Given the description of an element on the screen output the (x, y) to click on. 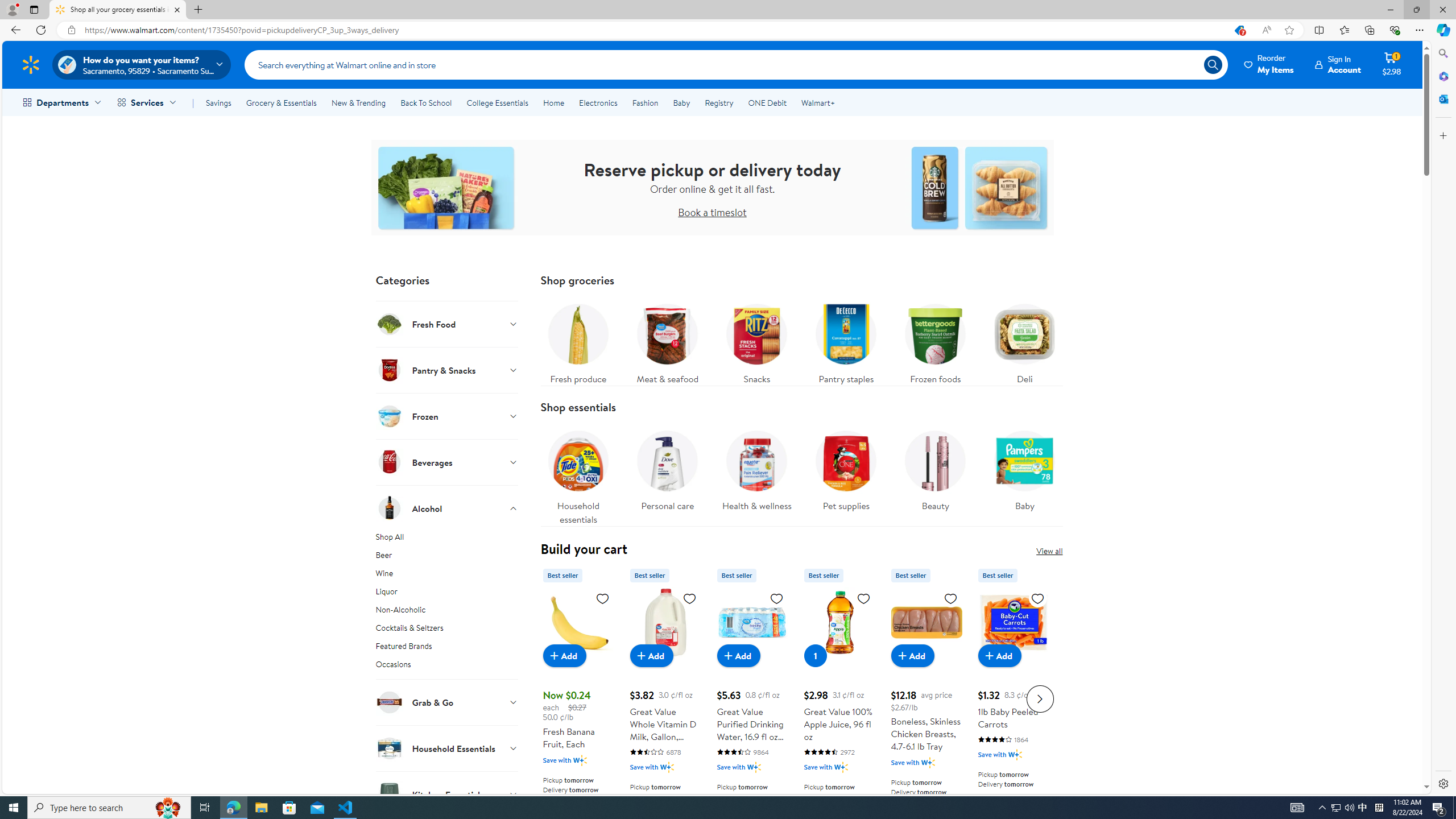
1 in cart, Great Value 100% Apple Juice, 96 fl oz (815, 655)
Reorder My Items (1269, 64)
Beer (446, 557)
Grocery & Essentials (280, 102)
Next slide for Product Carousel list (1040, 698)
Great Value 100% Apple Juice, 96 fl oz (839, 621)
New & Trending (358, 102)
